Given the description of an element on the screen output the (x, y) to click on. 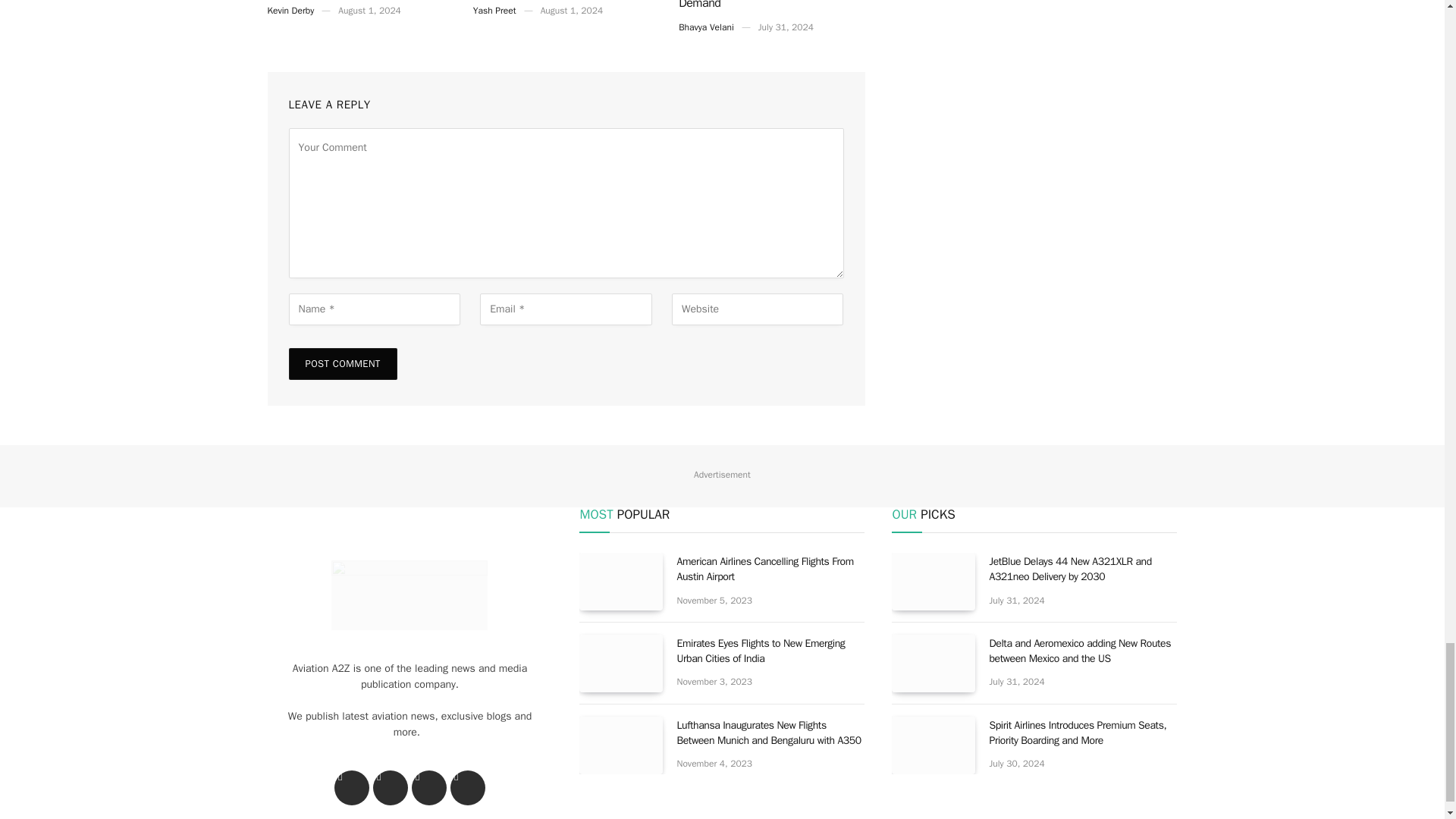
Post Comment (342, 364)
